Given the description of an element on the screen output the (x, y) to click on. 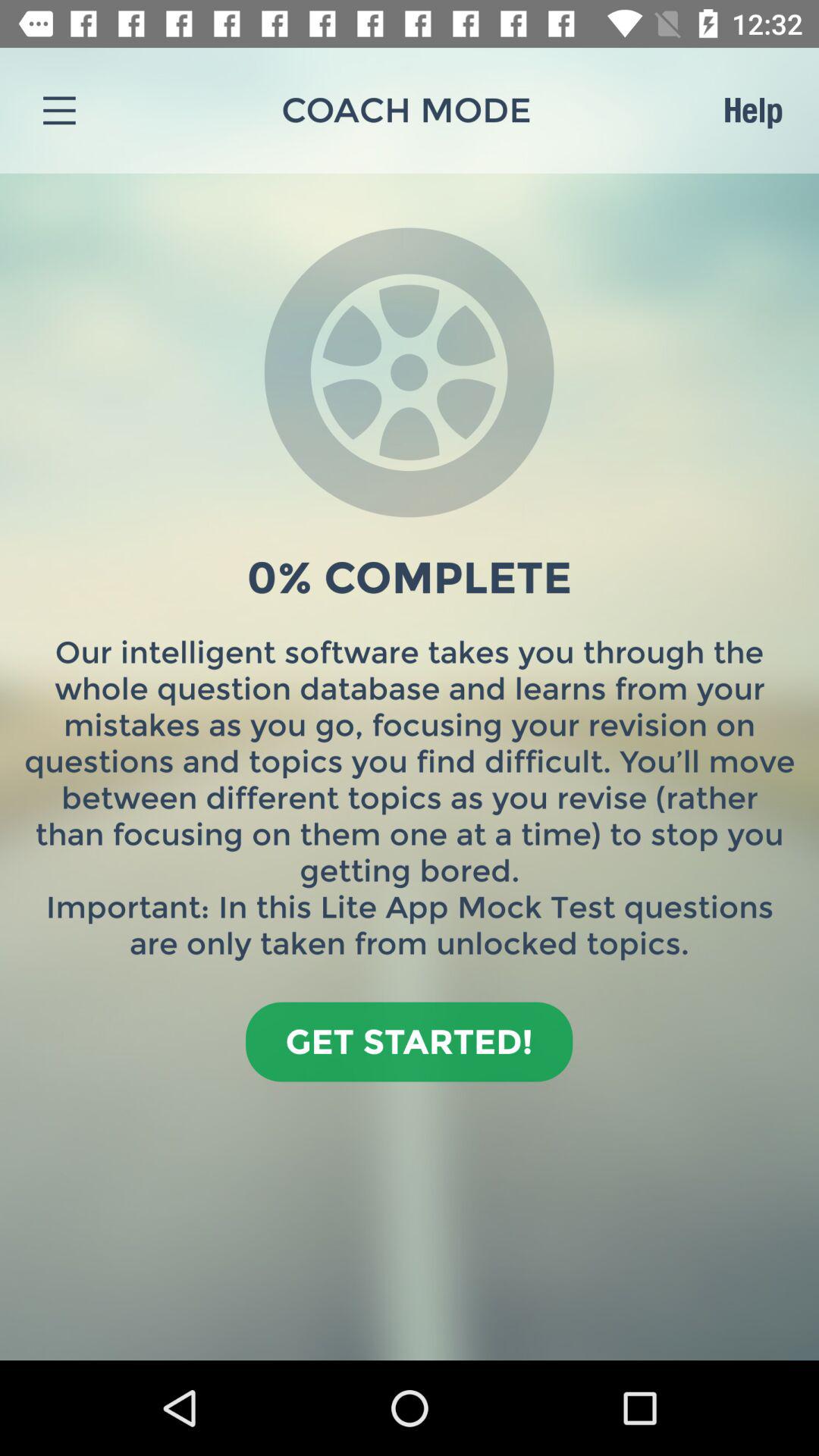
open get started! item (408, 1041)
